Given the description of an element on the screen output the (x, y) to click on. 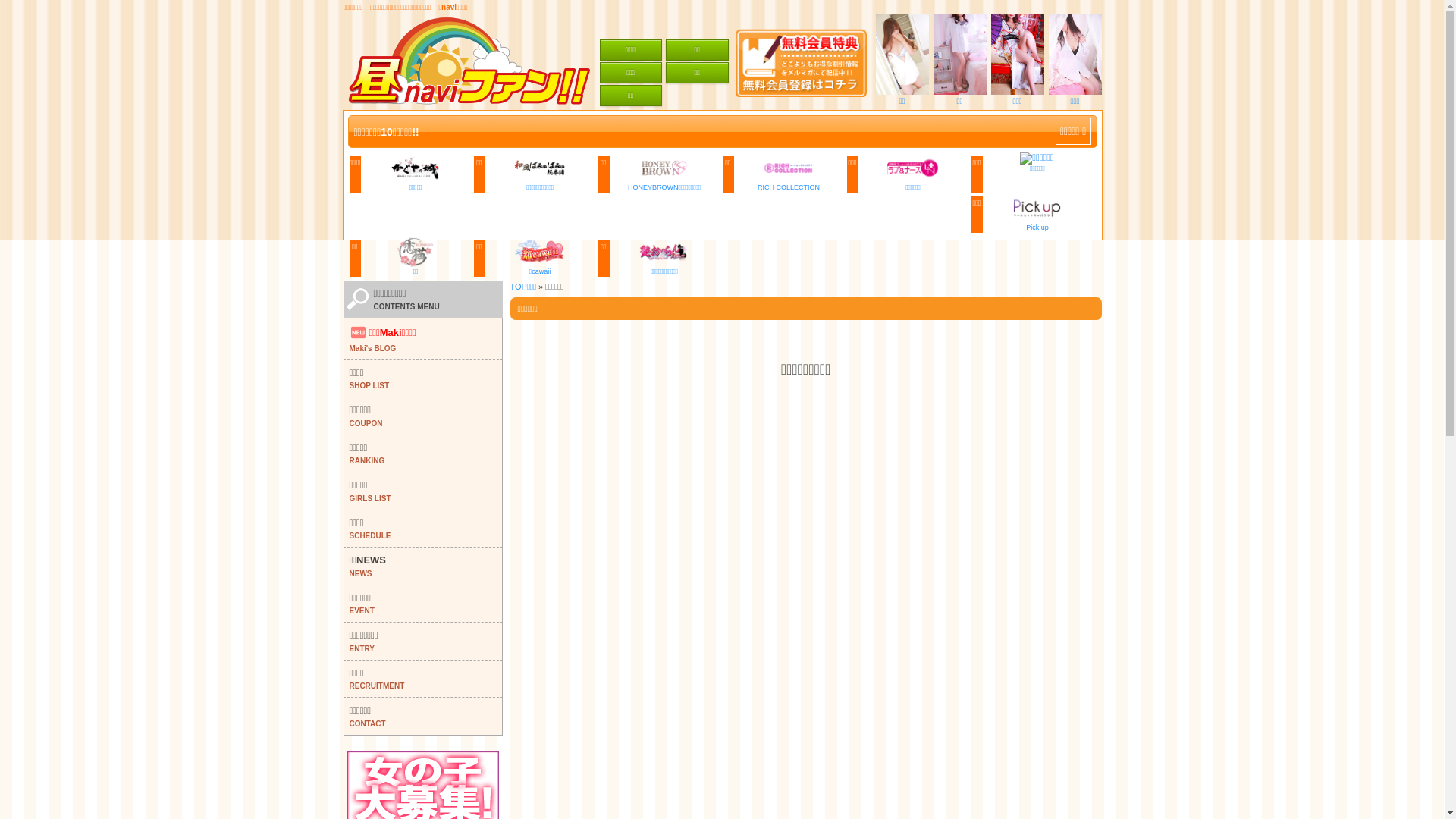
RICH COLLECTION Element type: text (788, 185)
Pick up Element type: text (1037, 225)
